Given the description of an element on the screen output the (x, y) to click on. 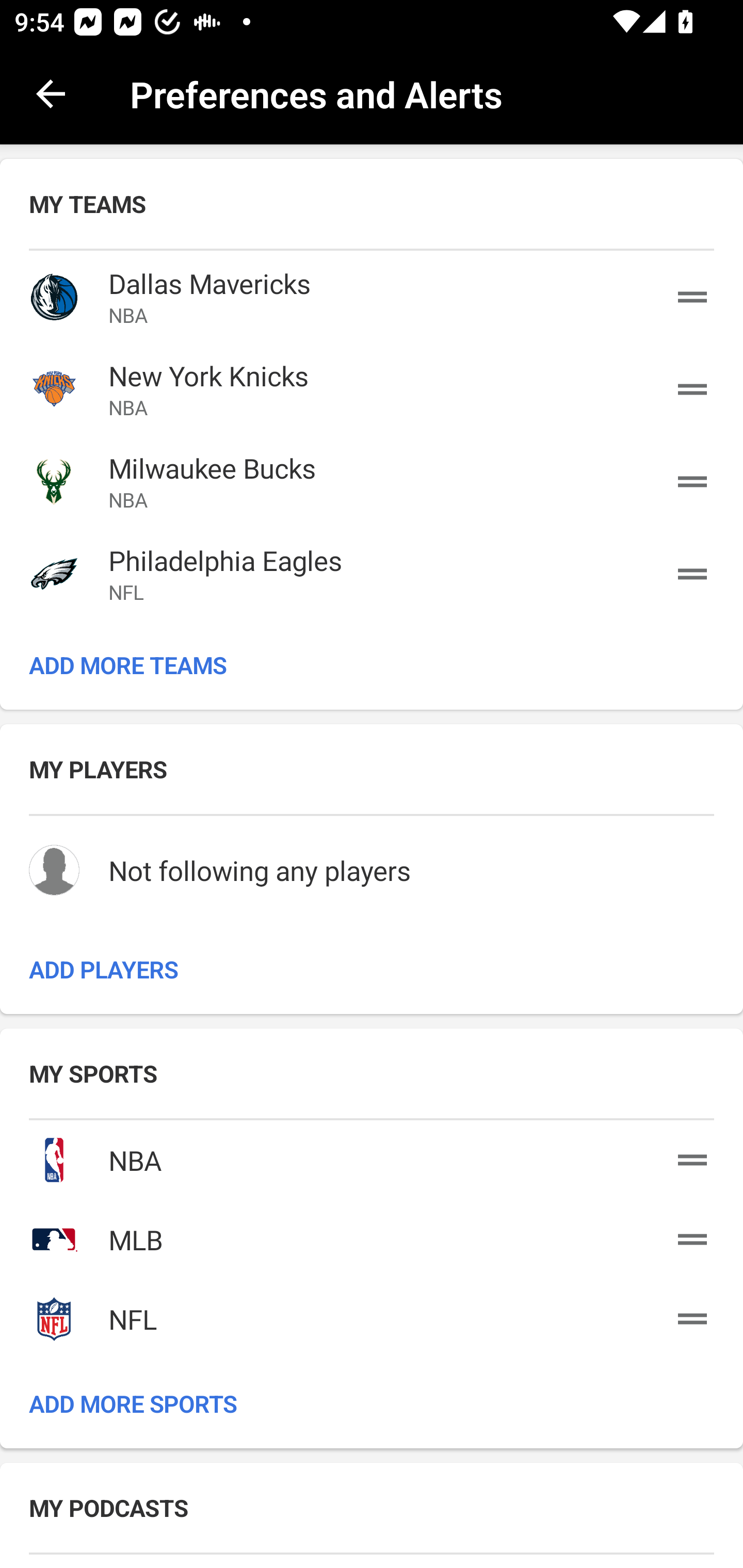
back.button (50, 93)
ADD MORE TEAMS (371, 664)
ADD PLAYERS (371, 968)
NBA NBA NBA (371, 1156)
MLB MLB MLB (371, 1235)
NFL NFL NFL (371, 1315)
ADD MORE SPORTS (371, 1402)
